Given the description of an element on the screen output the (x, y) to click on. 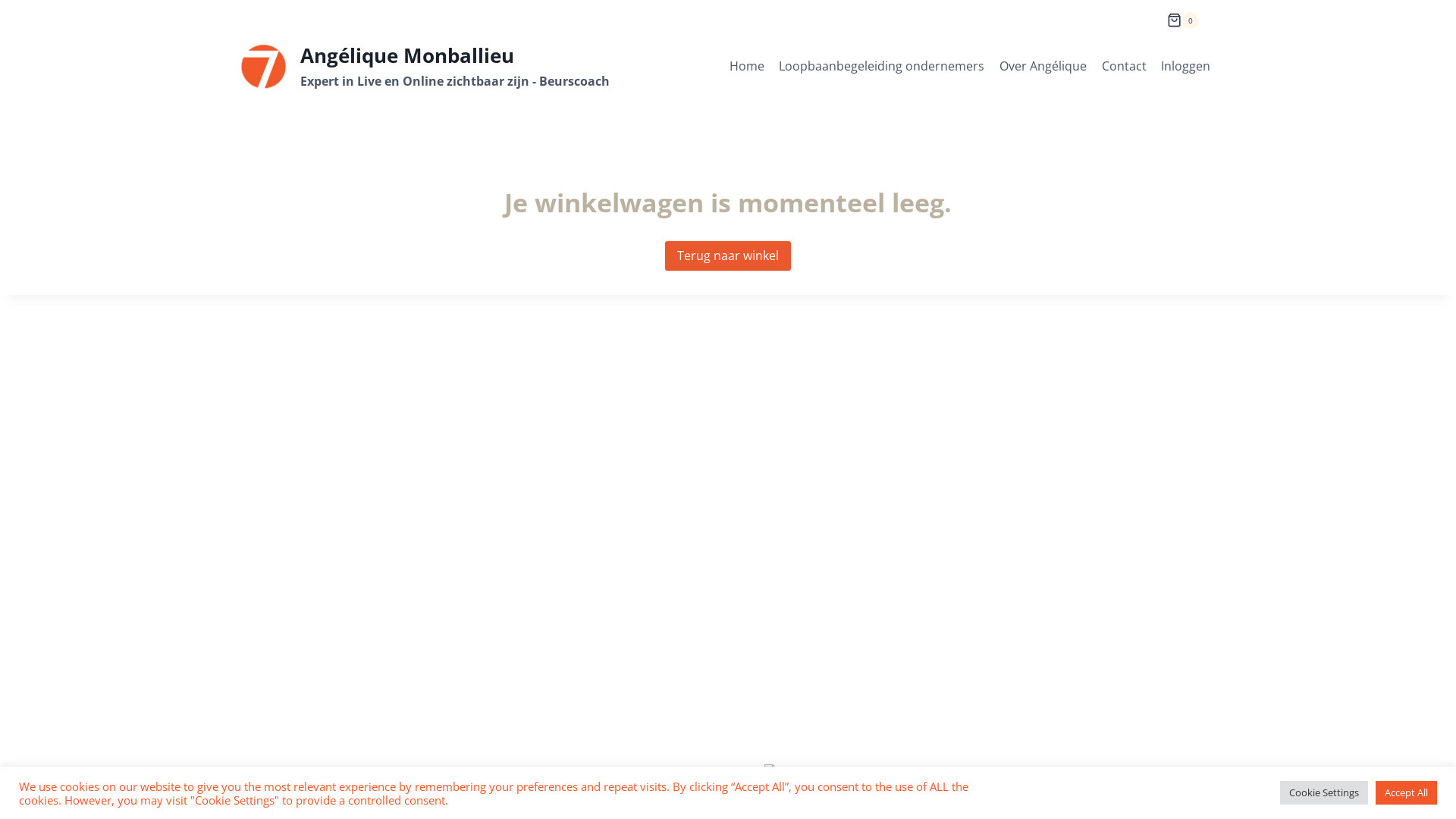
Terug naar winkel Element type: text (727, 255)
Made with  by MindYourOwnBusiness Element type: text (816, 772)
Inloggen Element type: text (1185, 66)
Accept All Element type: text (1406, 792)
Contact Element type: text (1123, 66)
0 Element type: text (1182, 14)
Home Element type: text (746, 66)
Cookie Settings Element type: text (1324, 792)
Loopbaanbegeleiding ondernemers Element type: text (881, 66)
